Given the description of an element on the screen output the (x, y) to click on. 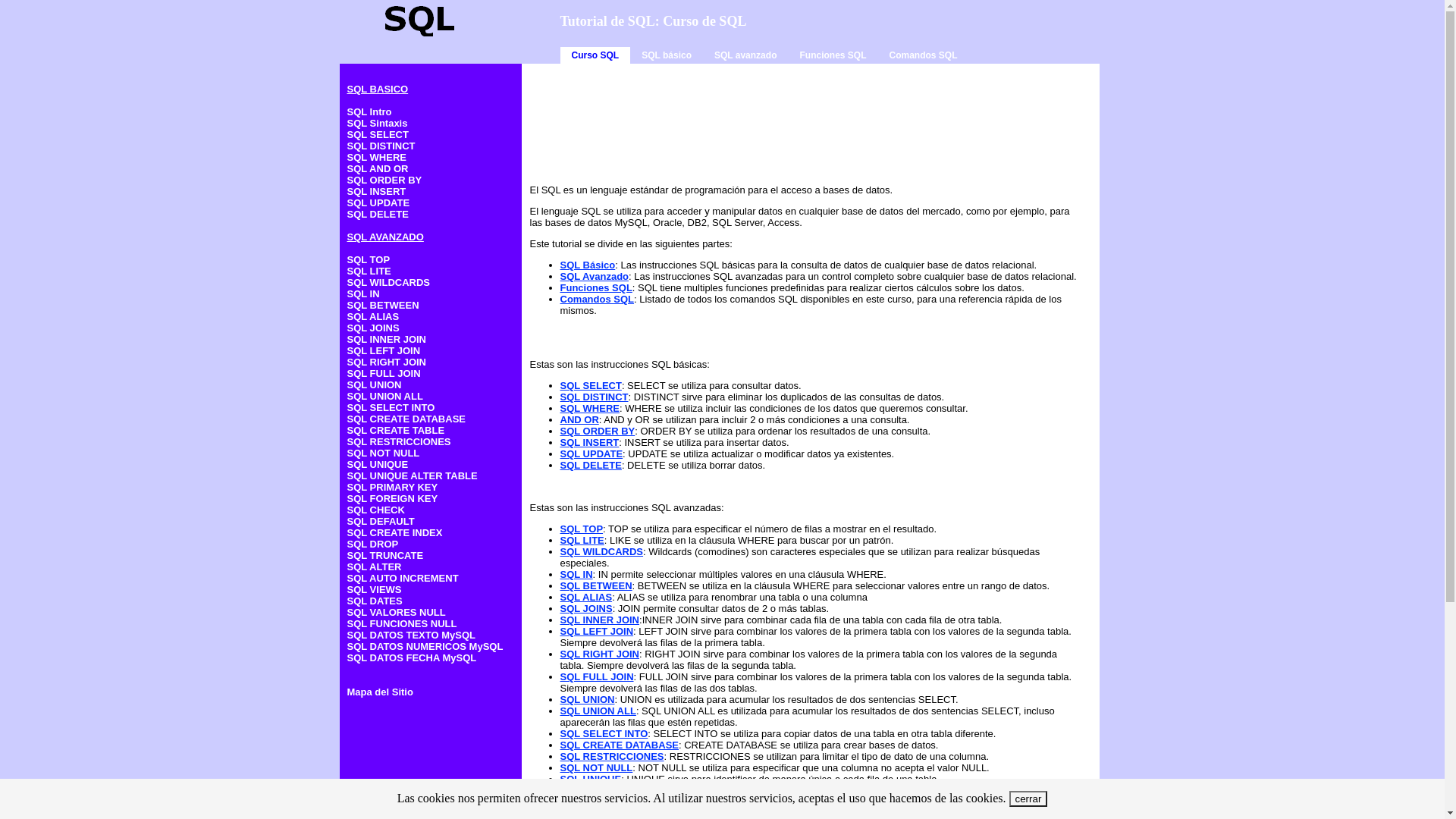
SQL NOT NULL Element type: text (383, 452)
SQL UNIQUE ALTER TABLE Element type: text (624, 790)
SQL DELETE Element type: text (590, 464)
SQL JOINS Element type: text (585, 608)
SQL BETWEEN Element type: text (595, 585)
SQL WILDCARDS Element type: text (601, 551)
SQL VALORES NULL Element type: text (396, 612)
SQL RIGHT JOIN Element type: text (599, 653)
SQL NOT NULL Element type: text (595, 767)
SQL RESTRICCIONES Element type: text (611, 756)
SQL IN Element type: text (363, 293)
Curso SQL Element type: text (594, 55)
SQL UNIQUE Element type: text (590, 778)
SQL AUTO INCREMENT Element type: text (402, 577)
Funciones SQL Element type: text (595, 287)
SQL SELECT INTO Element type: text (391, 407)
SQL avanzado Element type: text (744, 54)
Comandos SQL Element type: text (596, 298)
SQL INNER JOIN Element type: text (386, 339)
SQL WHERE Element type: text (377, 157)
SQL DATOS FECHA MySQL Element type: text (411, 657)
SQL FULL JOIN Element type: text (596, 676)
SQL RESTRICCIONES Element type: text (399, 441)
SQL Intro Element type: text (369, 111)
SQL LEFT JOIN Element type: text (383, 350)
SQL UNIQUE ALTER TABLE Element type: text (412, 475)
cerrar Element type: text (1028, 798)
SQL TRUNCATE Element type: text (385, 555)
SQL JOINS Element type: text (373, 327)
SQL ORDER BY Element type: text (384, 179)
Advertisement Element type: hover (805, 117)
SQL ALIAS Element type: text (585, 596)
SQL AVANZADO Element type: text (385, 236)
SQL Sintaxis Element type: text (377, 122)
SQL RIGHT JOIN Element type: text (386, 361)
SQL FUNCIONES NULL Element type: text (402, 623)
SQL CREATE DATABASE Element type: text (618, 744)
SQL INSERT Element type: text (588, 442)
SQL INNER JOIN Element type: text (599, 619)
SQL UNION ALL Element type: text (597, 710)
SQL ORDER BY Element type: text (596, 430)
Comandos SQL Element type: text (922, 54)
SQL PRIMARY KEY Element type: text (392, 486)
AND OR Element type: text (578, 419)
SQL CREATE TABLE Element type: text (396, 430)
SQL SELECT INTO Element type: text (603, 733)
SQL WHERE Element type: text (589, 408)
SQL DISTINCT Element type: text (381, 145)
SQL CREATE INDEX Element type: text (394, 532)
SQL CREATE DATABASE Element type: text (406, 418)
SQL ALTER Element type: text (374, 566)
SQL ALIAS Element type: text (373, 316)
SQL TOP Element type: text (580, 528)
SQL UNION Element type: text (586, 699)
SQL DISTINCT Element type: text (593, 396)
SQL SELECT Element type: text (590, 385)
SQL TOP Element type: text (368, 259)
SQL FULL JOIN Element type: text (383, 373)
SQL VIEWS Element type: text (374, 589)
SQL DROP Element type: text (372, 543)
SQL LITE Element type: text (369, 270)
SQL AND OR Element type: text (377, 168)
SQL LITE Element type: text (581, 540)
SQL DATOS TEXTO MySQL Element type: text (411, 634)
SQL BETWEEN Element type: text (383, 304)
SQL FOREIGN KEY Element type: text (392, 498)
SQL DATES Element type: text (374, 600)
SQL IN Element type: text (575, 574)
SQL SELECT Element type: text (377, 134)
SQL BASICO Element type: text (377, 88)
Funciones SQL Element type: text (832, 54)
SQL UNION Element type: text (374, 384)
SQL UPDATE Element type: text (378, 202)
SQL CHECK Element type: text (375, 509)
SQL UNIQUE Element type: text (377, 464)
SQL INSERT Element type: text (376, 191)
SQL UNION ALL Element type: text (385, 395)
SQL DATOS NUMERICOS MySQL Element type: text (425, 646)
Mapa del Sitio Element type: text (380, 691)
SQL WILDCARDS Element type: text (388, 282)
SQL Avanzado Element type: text (593, 276)
SQL DELETE Element type: text (377, 213)
SQL UPDATE Element type: text (590, 453)
SQL DEFAULT Element type: text (380, 521)
SQL LEFT JOIN Element type: text (596, 631)
